Given the description of an element on the screen output the (x, y) to click on. 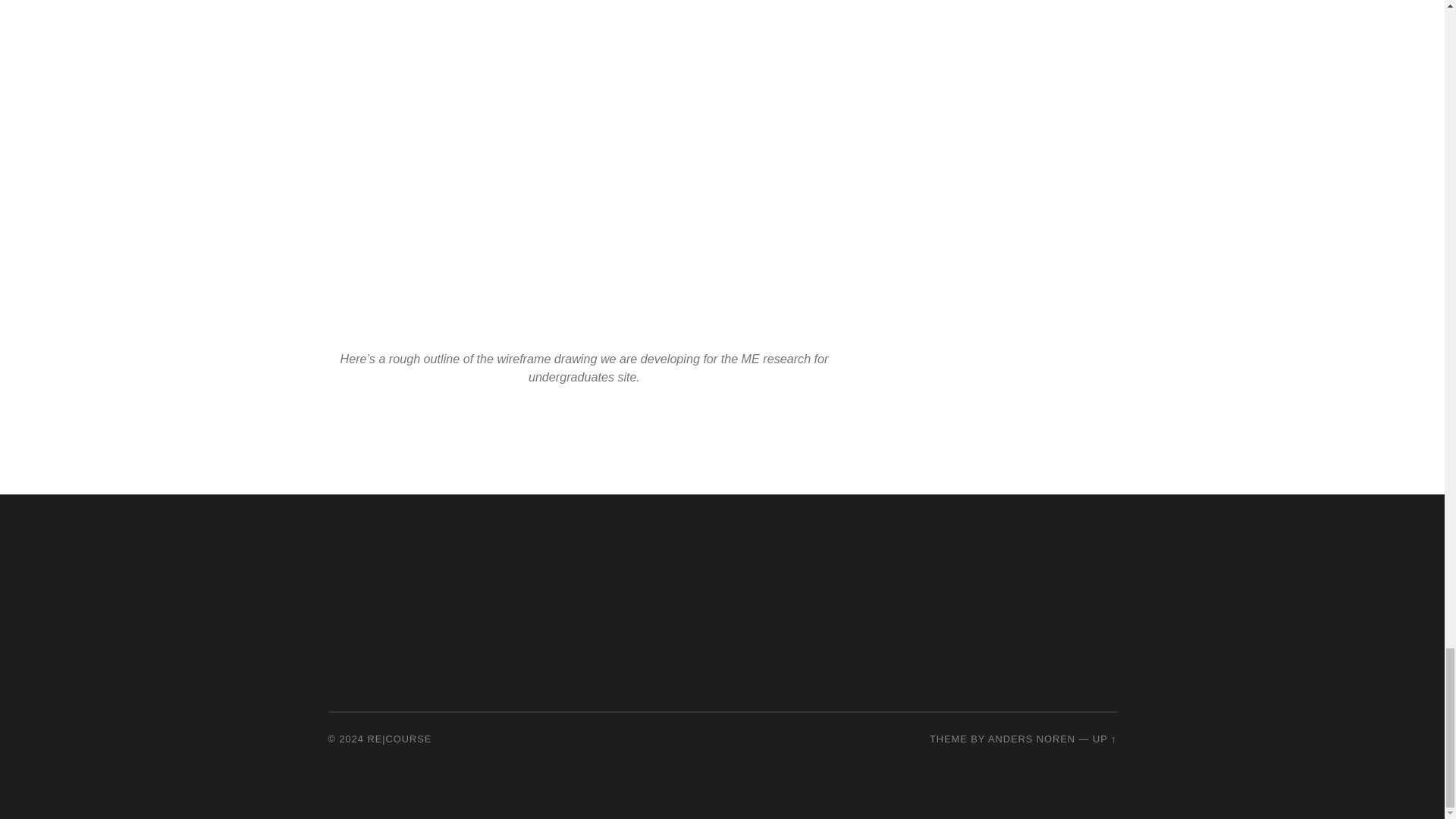
To the top (1104, 738)
